Given the description of an element on the screen output the (x, y) to click on. 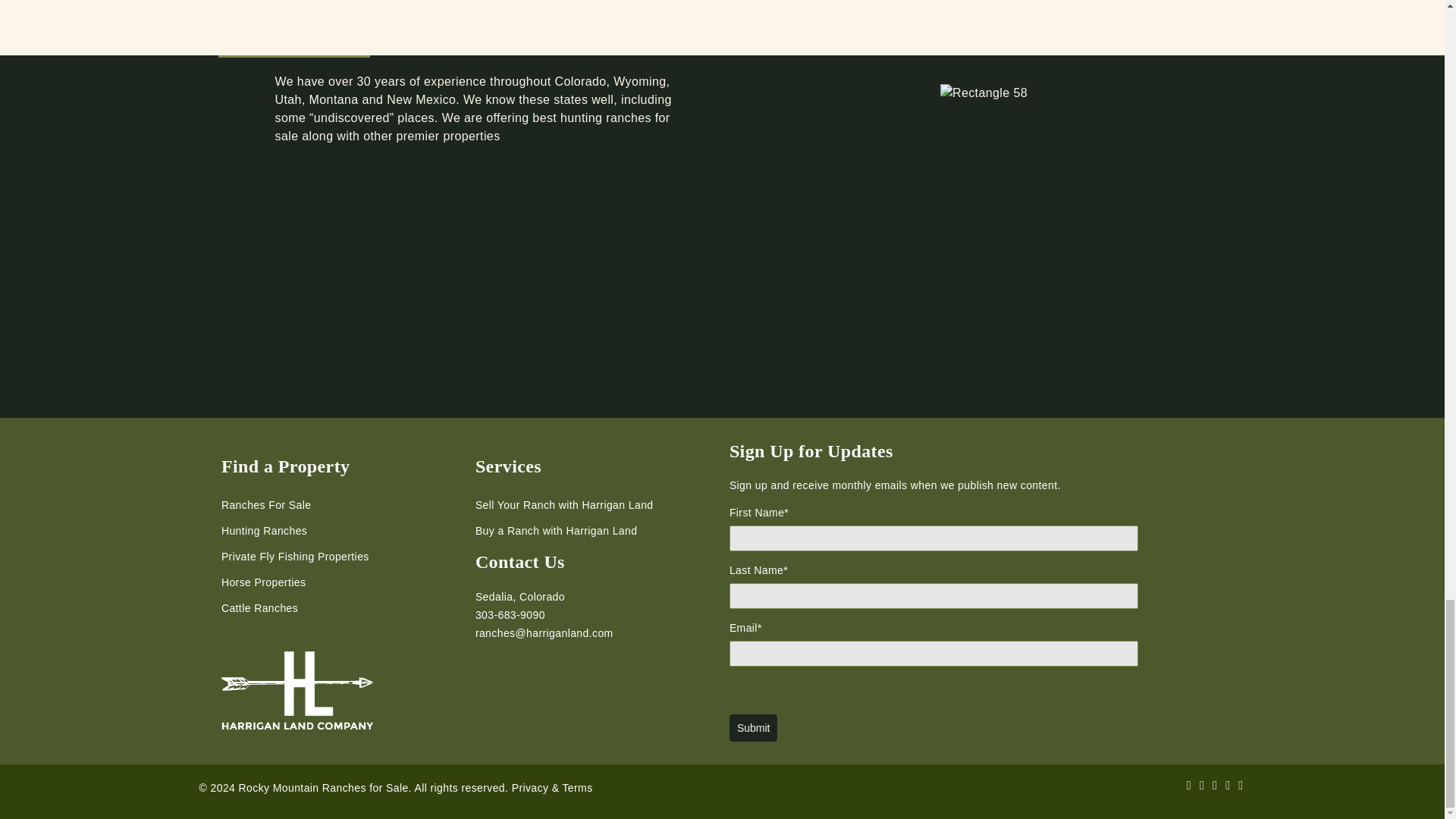
Submit (753, 727)
